Given the description of an element on the screen output the (x, y) to click on. 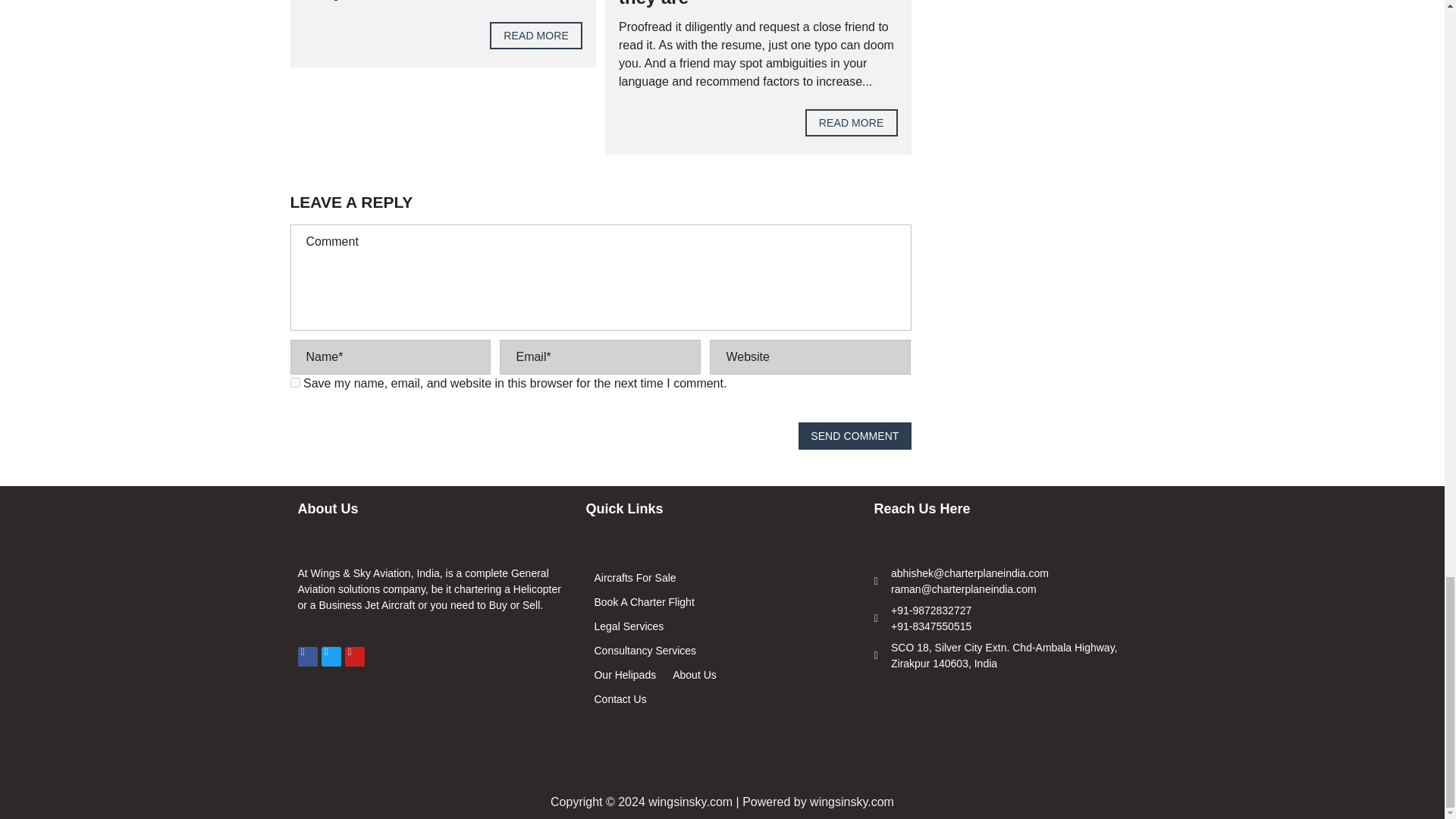
SEND COMMENT (854, 435)
yes (294, 382)
READ MORE (851, 122)
READ MORE (535, 35)
